Given the description of an element on the screen output the (x, y) to click on. 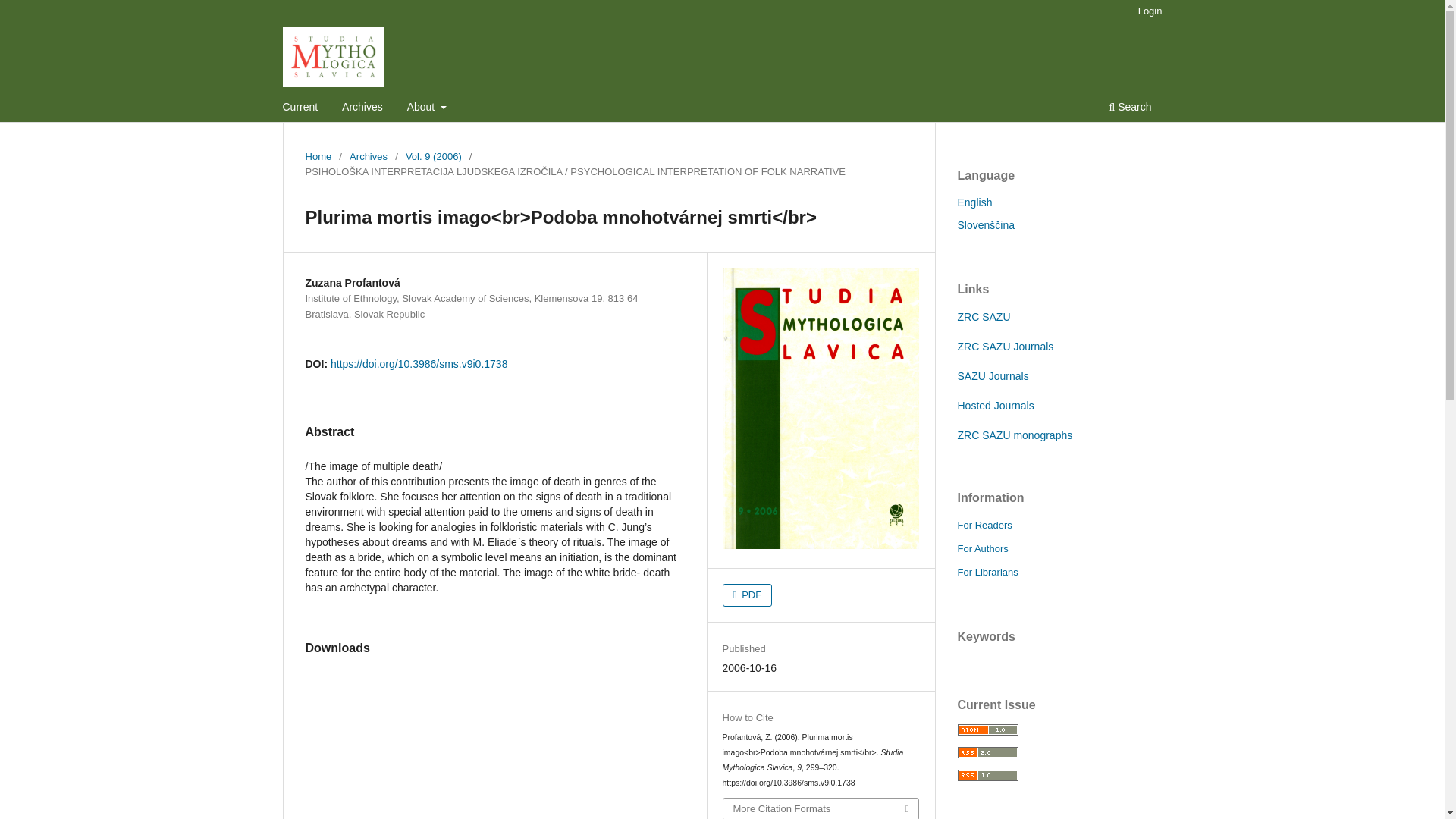
More Citation Formats (820, 808)
Archives (368, 156)
Current (300, 108)
Archives (362, 108)
Login (1150, 11)
Home (317, 156)
About (426, 108)
PDF (747, 594)
Search (1129, 108)
